Given the description of an element on the screen output the (x, y) to click on. 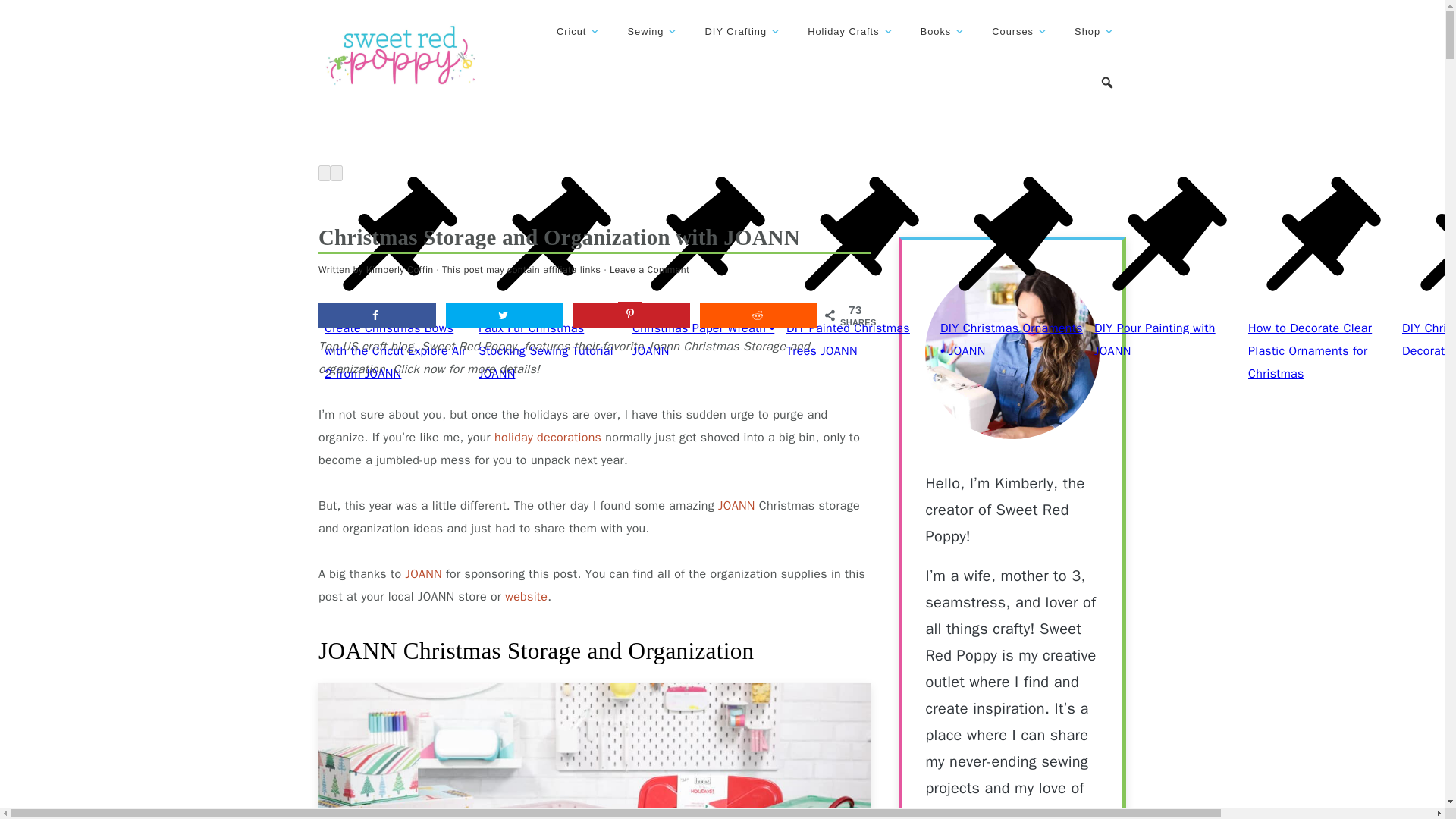
Sweet Red Poppy (399, 85)
Holiday Crafts (850, 32)
DIY Crafting (743, 32)
Save to Pinterest (631, 315)
Share on Reddit (758, 315)
Share on Twitter (504, 315)
Sweet Red Poppy (399, 56)
Sewing (651, 32)
Books (942, 32)
Cricut (577, 32)
Share on Facebook (376, 315)
